Given the description of an element on the screen output the (x, y) to click on. 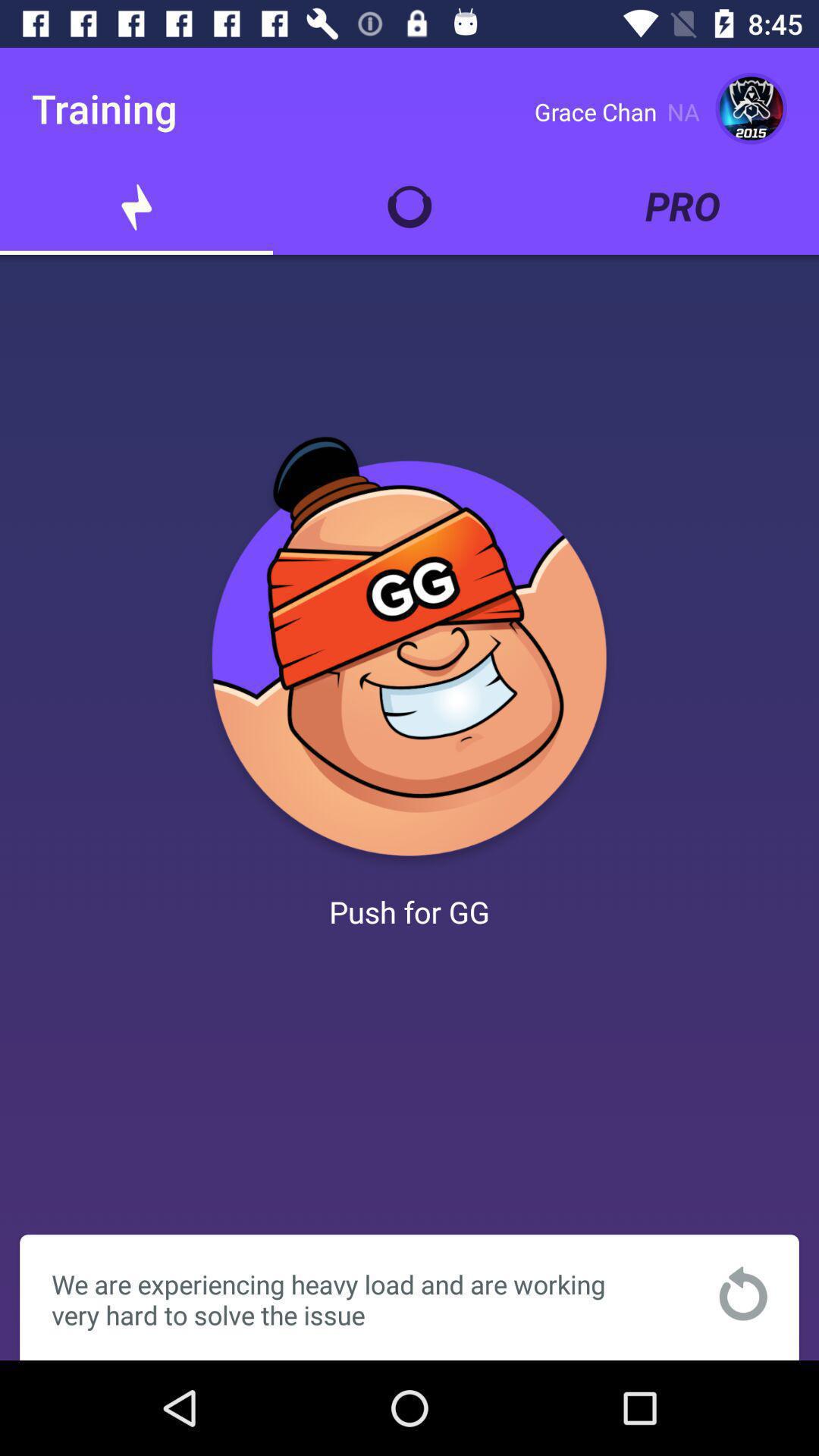
refresh the page (743, 1293)
